Given the description of an element on the screen output the (x, y) to click on. 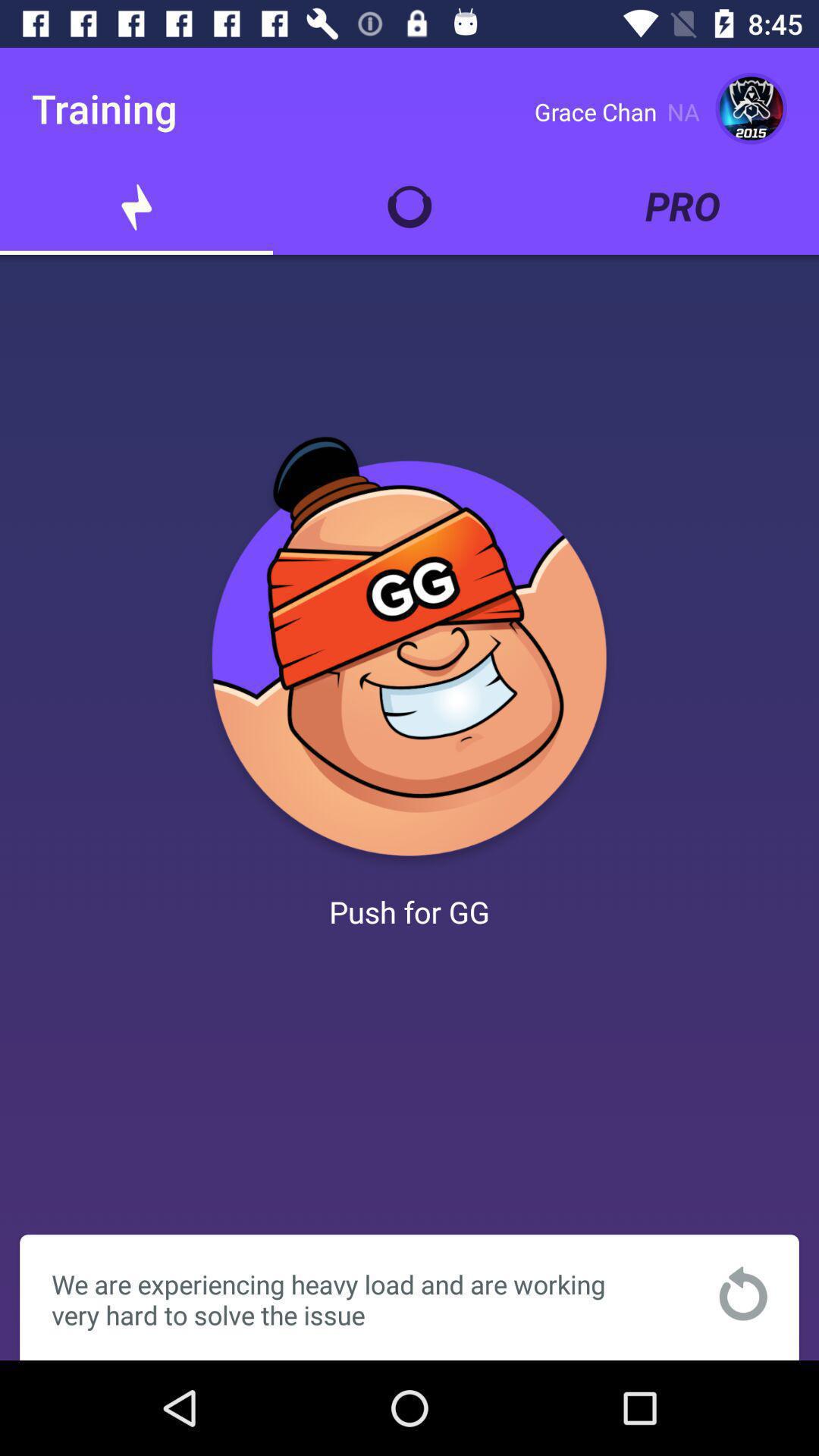
refresh the page (743, 1293)
